Given the description of an element on the screen output the (x, y) to click on. 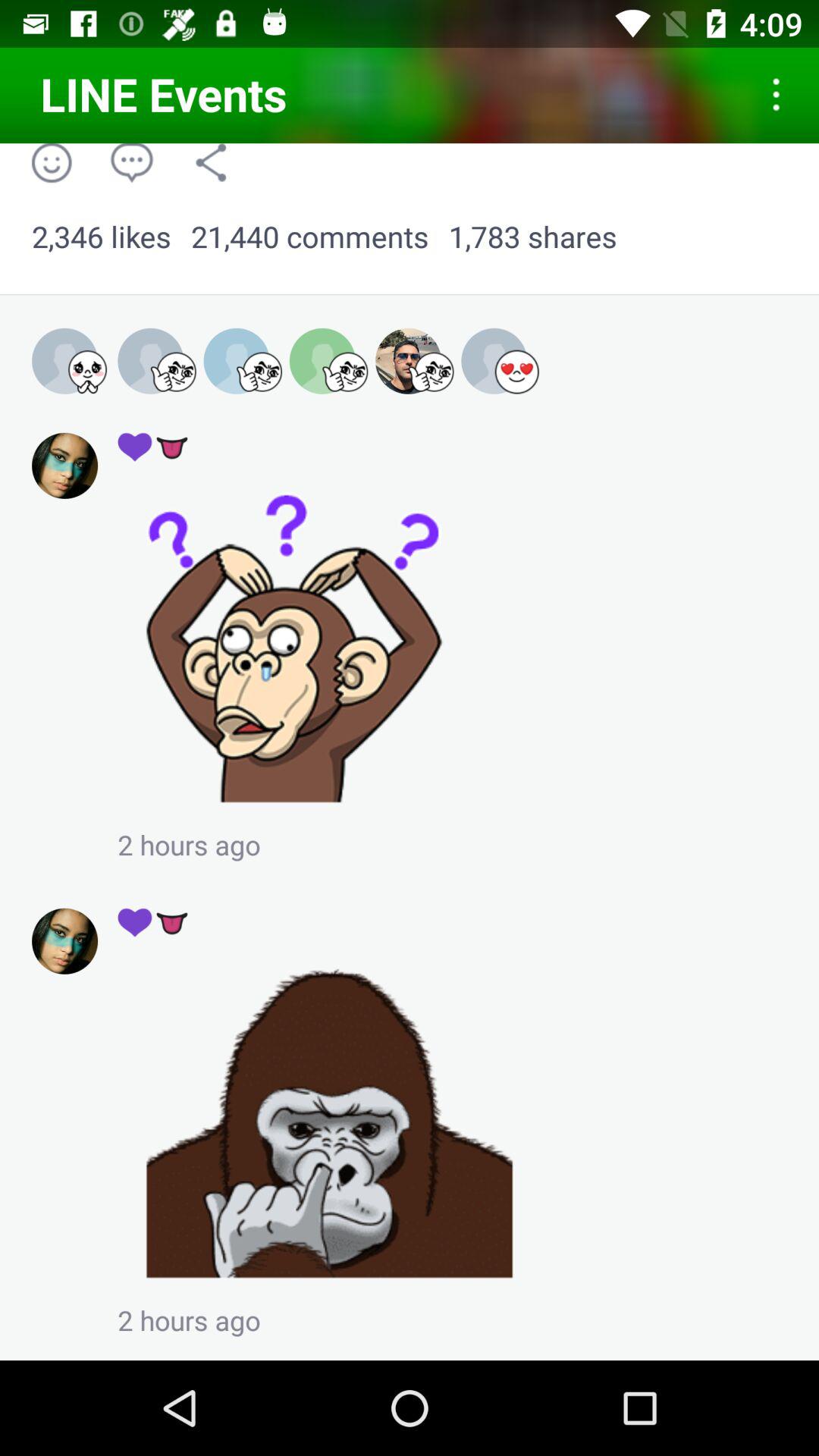
select the 21,440 comments item (309, 237)
